Given the description of an element on the screen output the (x, y) to click on. 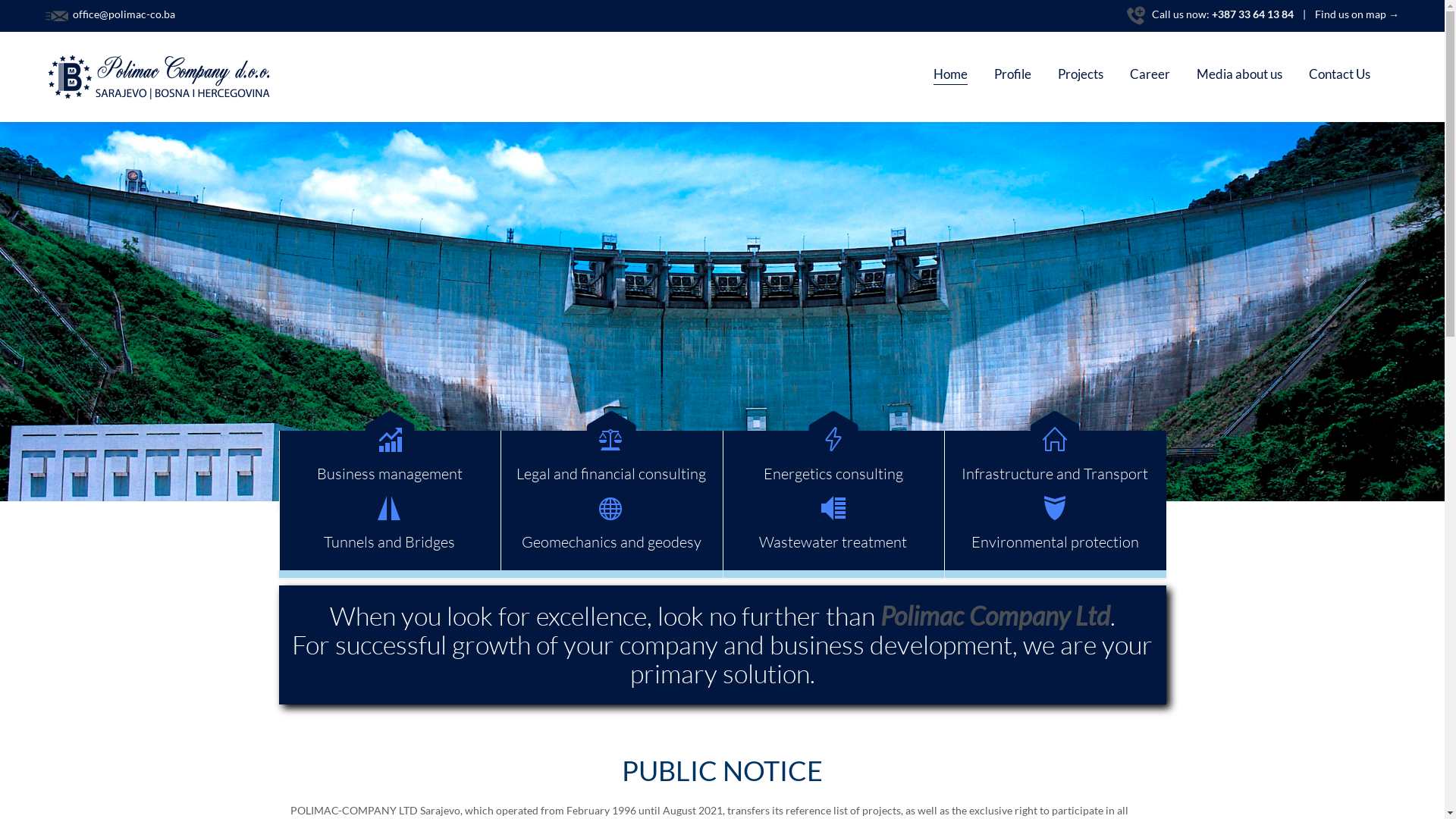
Media about us Element type: text (1239, 75)
Skip to content Element type: text (1388, 60)
Projects Element type: text (1080, 75)
Contact Us Element type: text (1339, 75)
 office@polimac-co.ba Element type: text (122, 13)
Home Element type: text (950, 73)
Profile Element type: text (1012, 75)
Career Element type: text (1149, 75)
Polimac Company Element type: hover (159, 76)
